Given the description of an element on the screen output the (x, y) to click on. 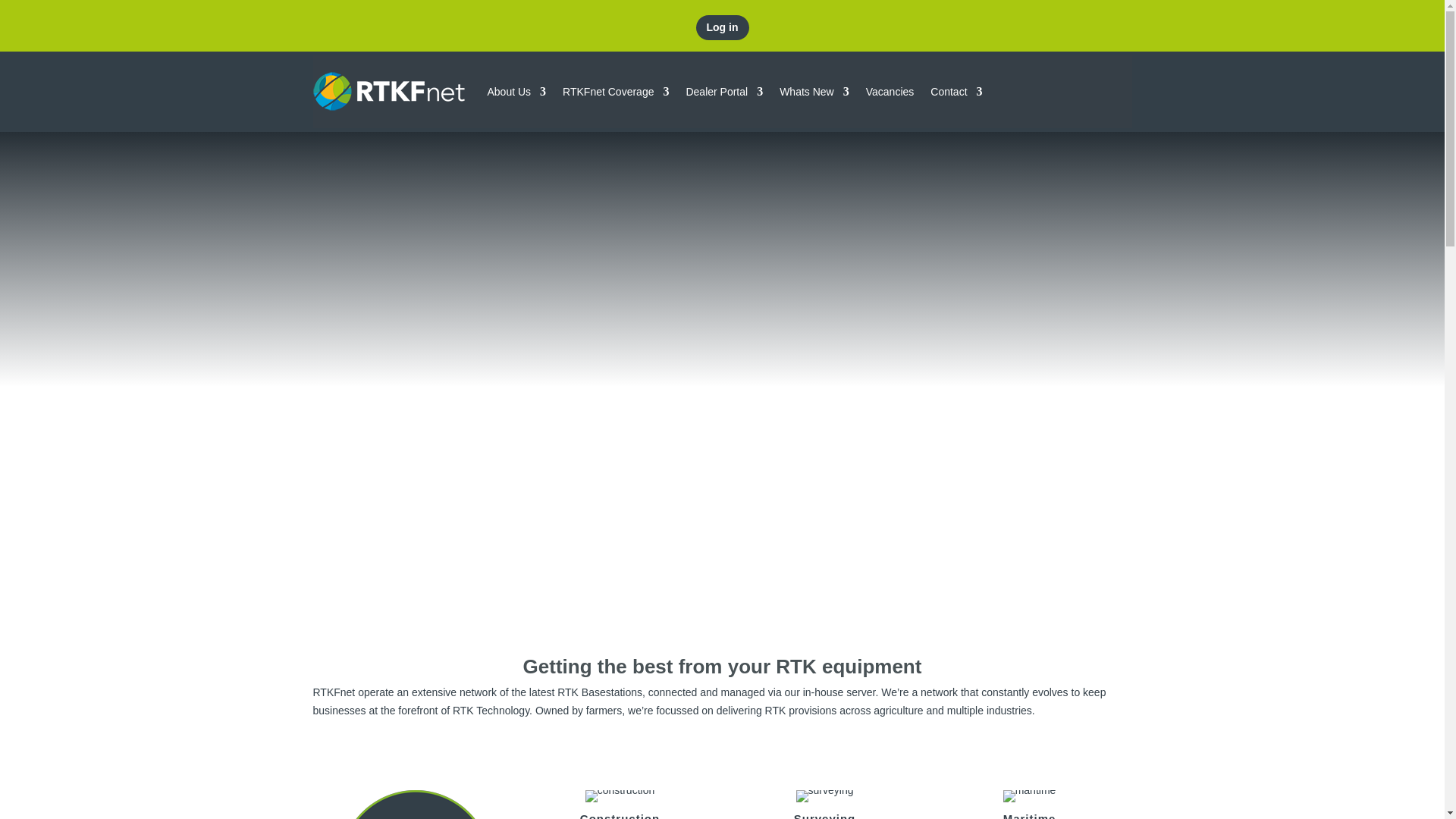
RTKFnet Coverage (615, 91)
About Us (516, 91)
Log in (722, 27)
Dealer Portal (723, 91)
Contact (955, 91)
Whats New (813, 91)
